Given the description of an element on the screen output the (x, y) to click on. 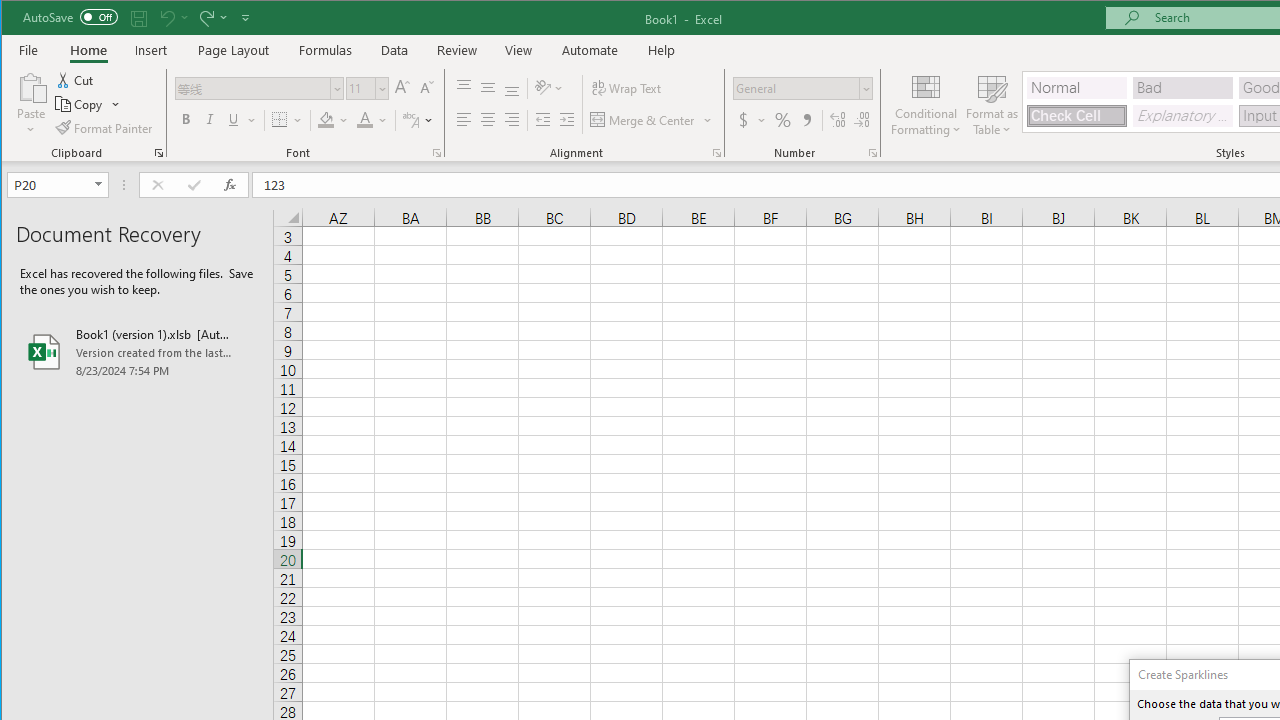
Format Cell Alignment (716, 152)
AutoSave (70, 16)
Format Painter (105, 127)
Underline (233, 119)
Font (253, 88)
Decrease Decimal (861, 119)
Bad (1183, 88)
Automate (589, 50)
Increase Font Size (401, 88)
Font Size (360, 88)
